Given the description of an element on the screen output the (x, y) to click on. 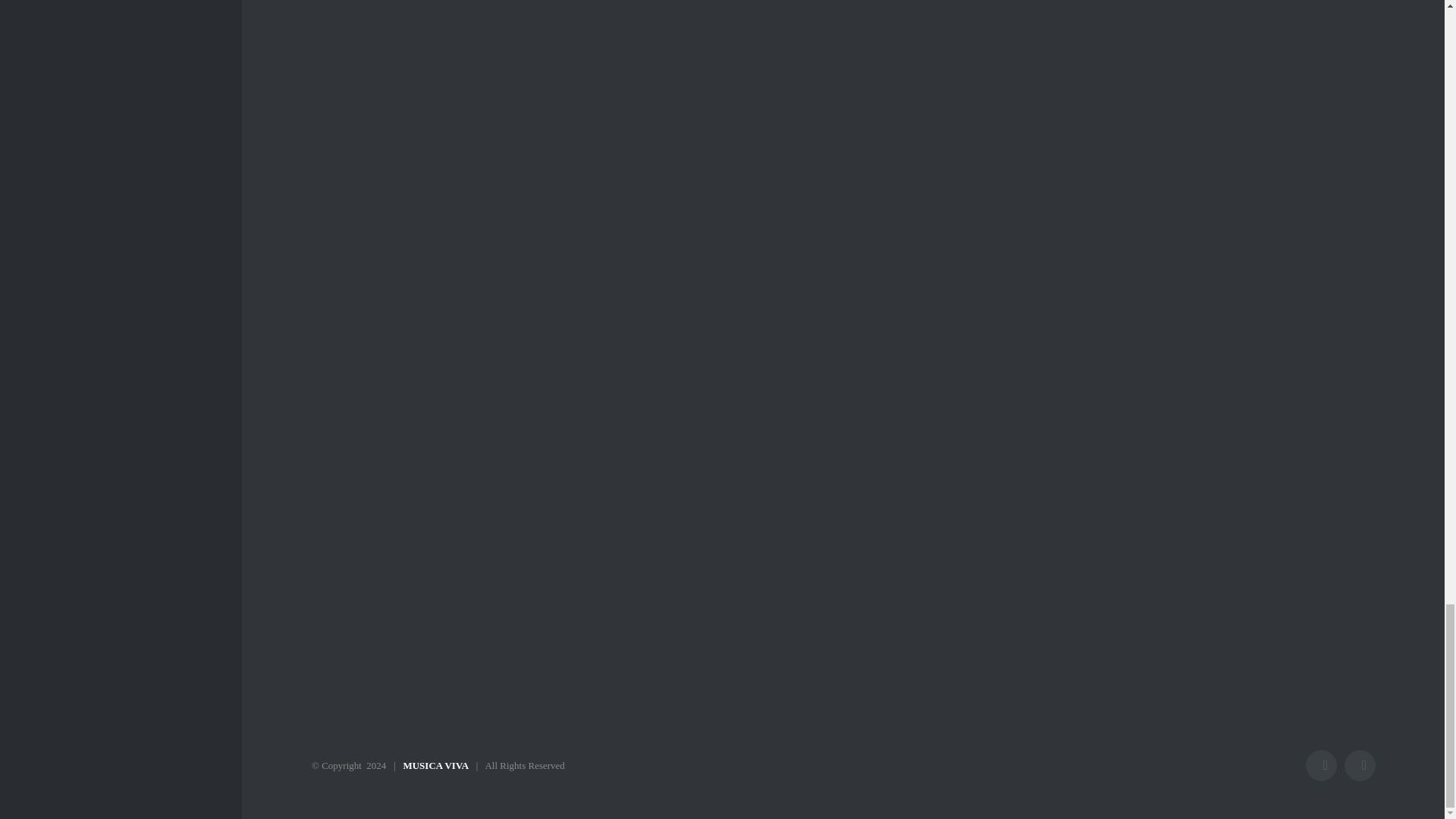
Vimeo (1359, 765)
Facebook (1321, 765)
Facebook (1321, 765)
Vimeo (1359, 765)
